Given the description of an element on the screen output the (x, y) to click on. 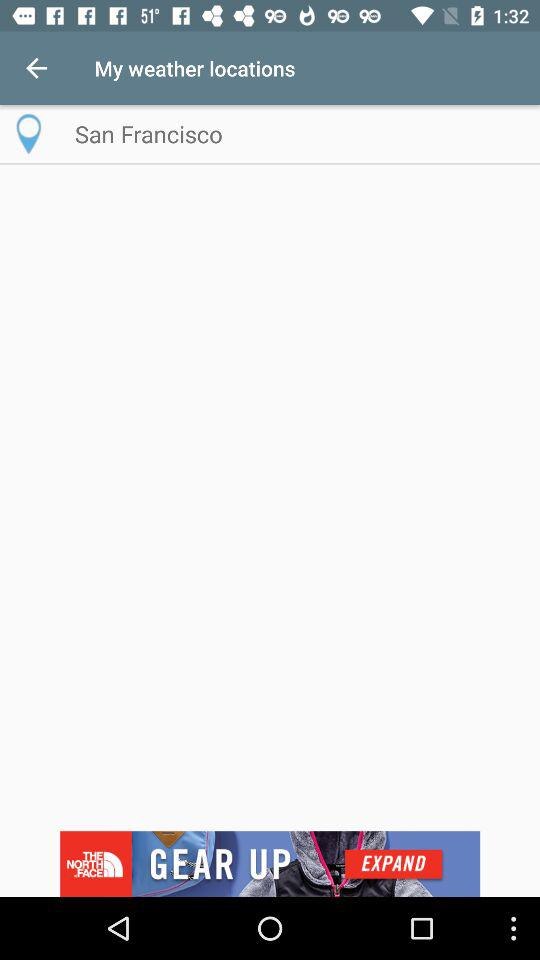
know about the advertisement (270, 864)
